Given the description of an element on the screen output the (x, y) to click on. 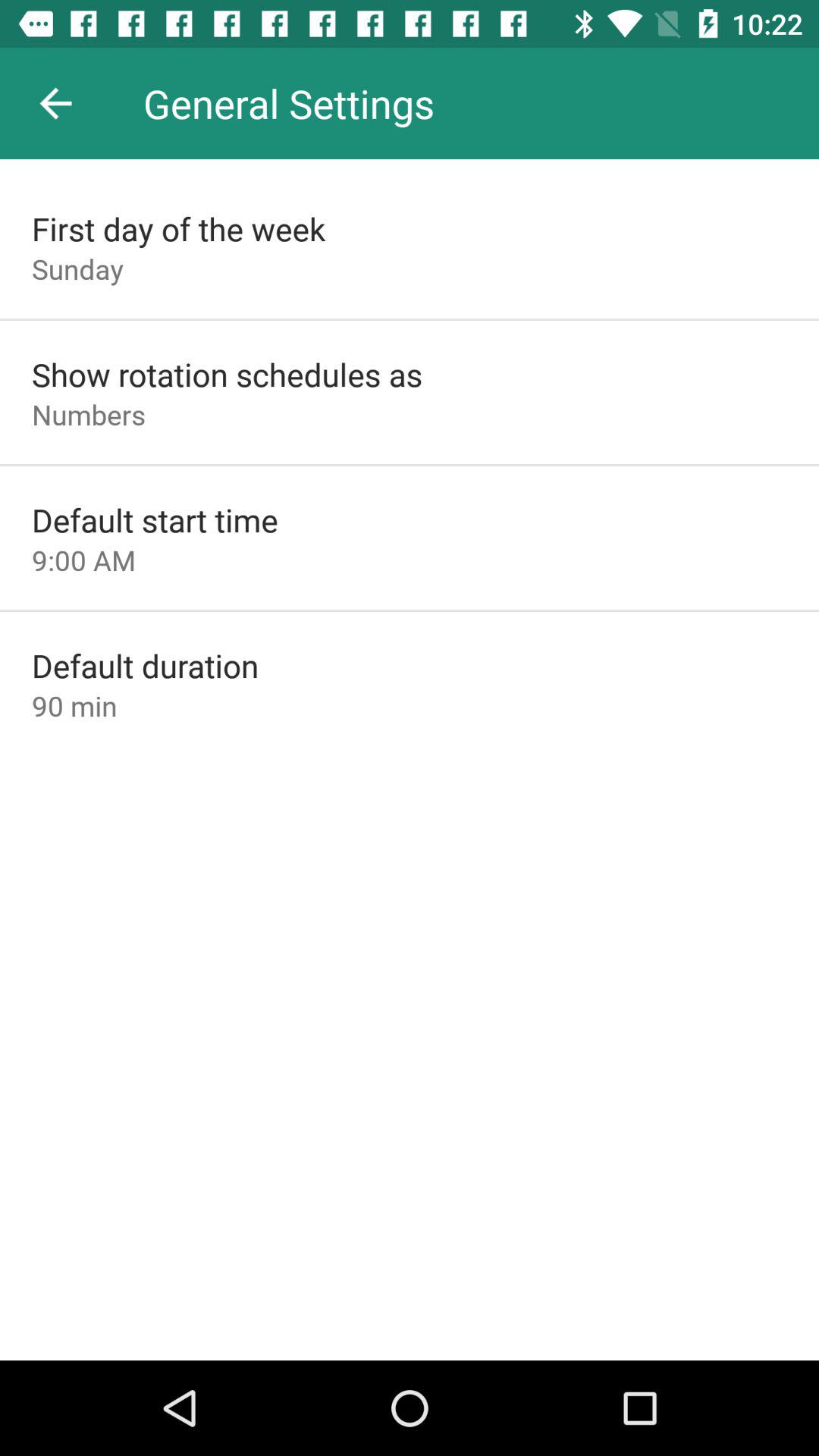
choose the icon above first day of item (55, 103)
